Given the description of an element on the screen output the (x, y) to click on. 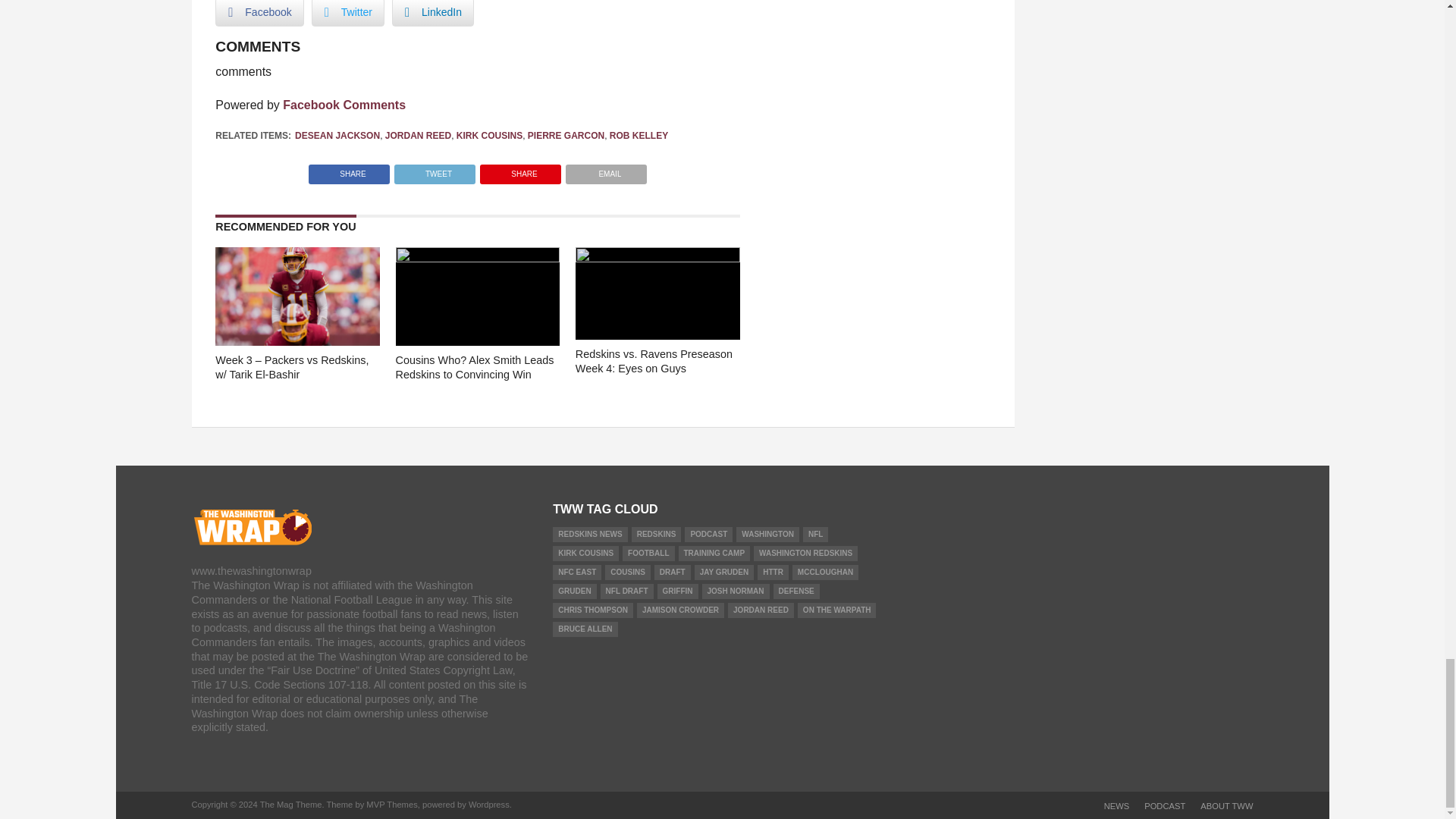
PIERRE GARCON (565, 135)
Cousins Who? Alex Smith Leads Redskins to Convincing Win (478, 257)
Share on Facebook (349, 169)
Redskins vs. Ravens Preseason Week 4: Eyes on Guys (657, 257)
SHARE (349, 169)
JORDAN REED (418, 135)
Tweet This Post (434, 169)
Facebook (258, 13)
LinkedIn (432, 13)
ROB KELLEY (639, 135)
SHARE (520, 169)
Twitter (347, 13)
Pin This Post (520, 169)
DESEAN JACKSON (337, 135)
Facebook Comments (344, 104)
